Given the description of an element on the screen output the (x, y) to click on. 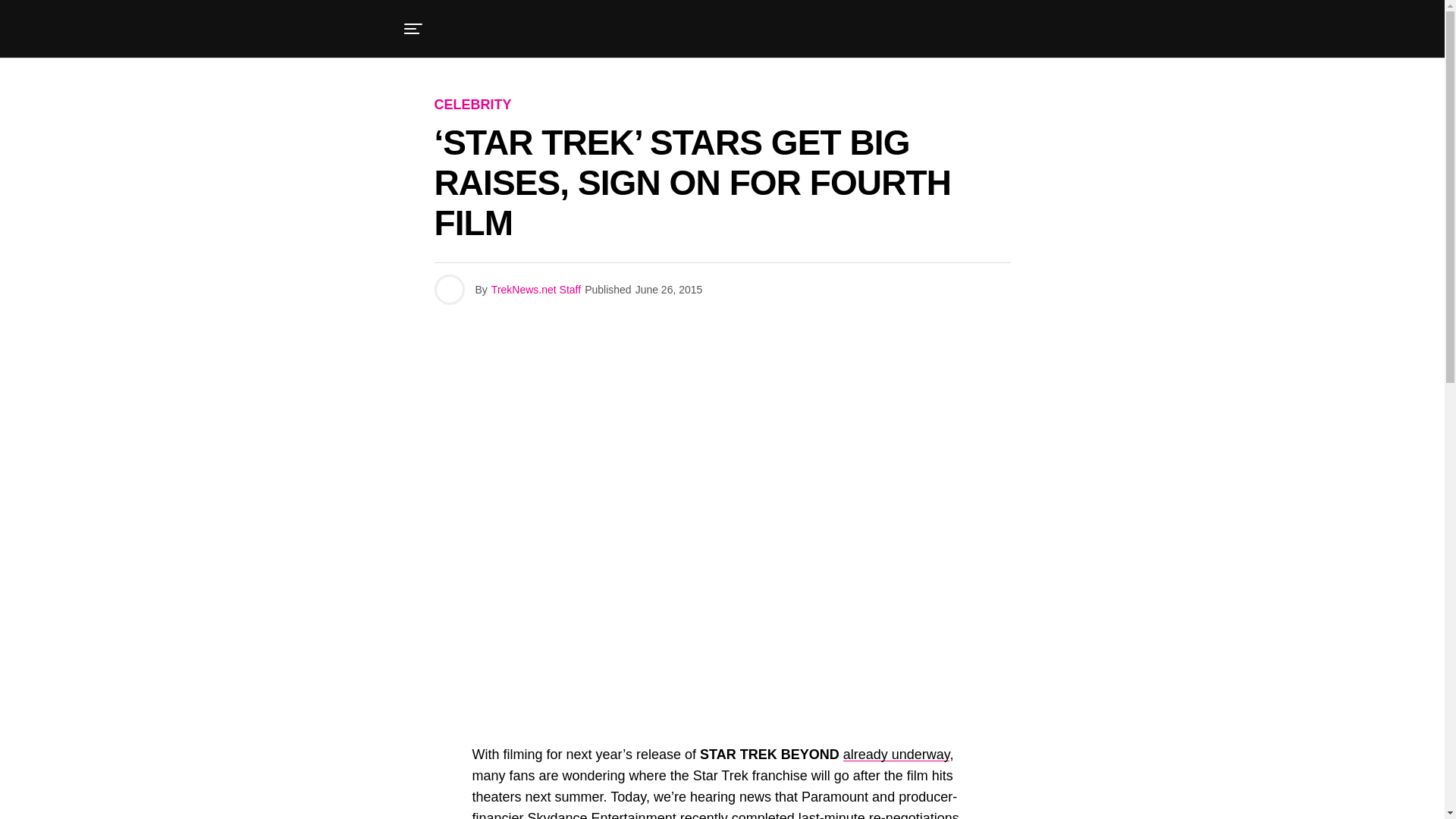
Posts by TrekNews.net Staff (536, 289)
already underway (896, 754)
CELEBRITY (472, 104)
TrekNews.net Staff (536, 289)
